Given the description of an element on the screen output the (x, y) to click on. 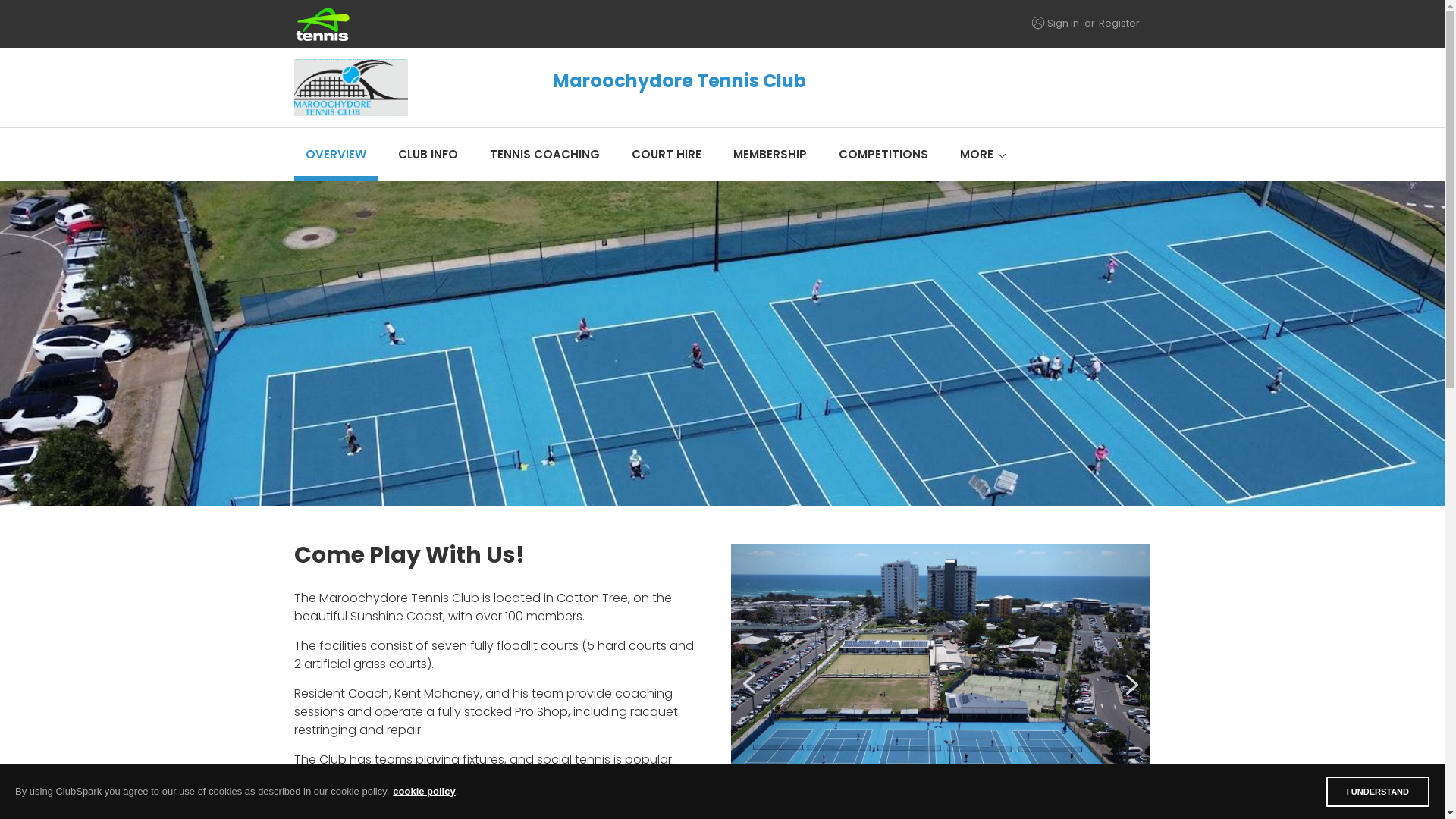
cookie policy Element type: text (423, 791)
Register Element type: text (1118, 22)
CLUB INFO Element type: text (427, 154)
I UNDERSTAND Element type: text (1377, 791)
COMPETITIONS Element type: text (882, 154)
Maroochydore Tennis Club Element type: text (594, 87)
MEMBERSHIP Element type: text (769, 154)
TENNIS COACHING Element type: text (543, 154)
Next Element type: text (1131, 684)
COURT HIRE Element type: text (666, 154)
Previous Element type: text (749, 684)
Sign in Element type: text (1062, 22)
MORE Element type: text (975, 154)
ClubSpark Element type: text (508, 23)
OVERVIEW Element type: text (335, 154)
